Given the description of an element on the screen output the (x, y) to click on. 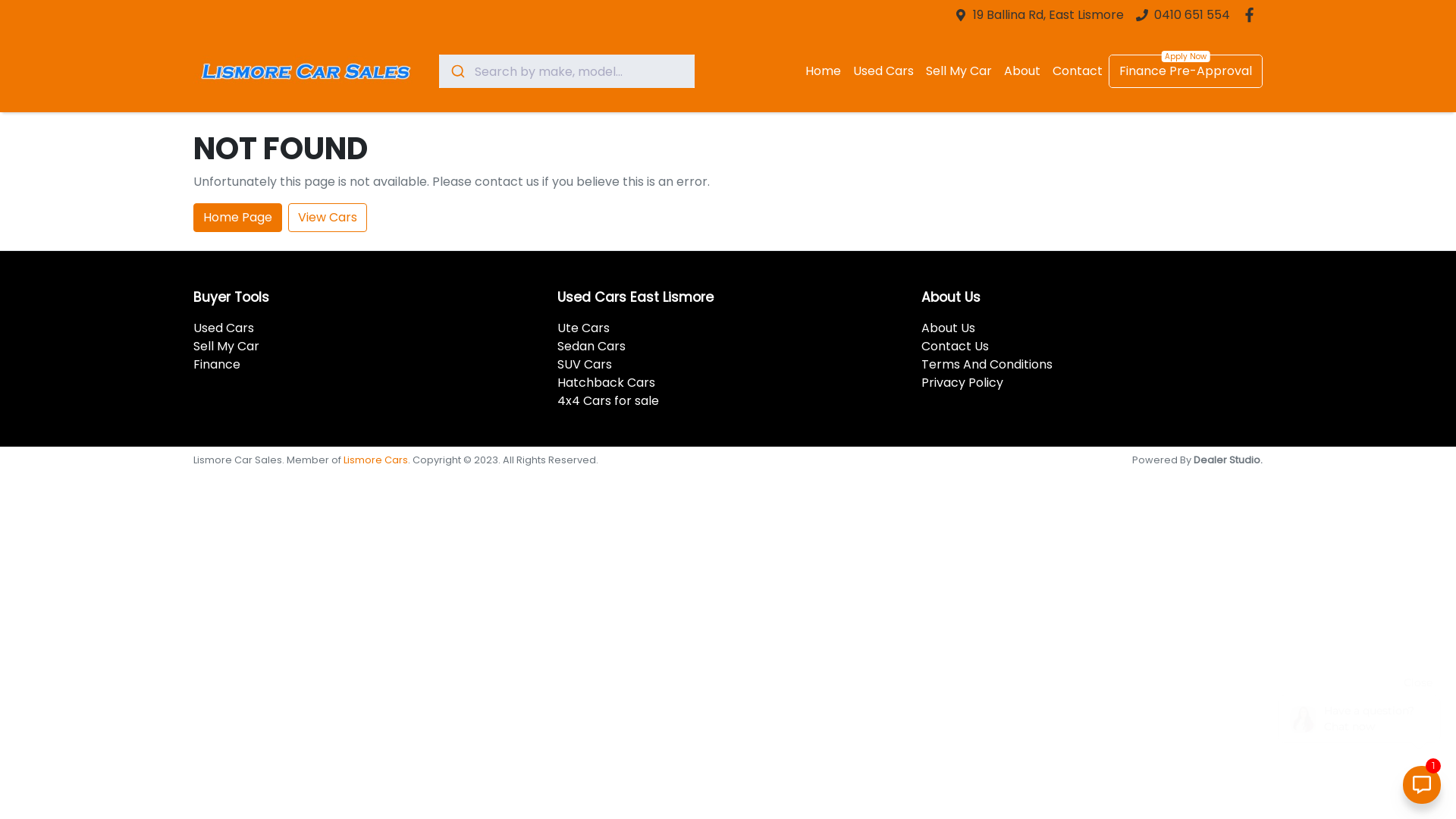
Privacy Policy Element type: text (962, 382)
Submit Element type: hover (456, 70)
19 Ballina Rd, East Lismore Element type: text (1047, 14)
About Element type: text (1021, 71)
Lismore Cars Element type: text (375, 459)
Sell My Car Element type: text (226, 345)
Home Element type: text (823, 71)
4x4 Cars for sale Element type: text (607, 400)
Hatchback Cars Element type: text (606, 382)
Terms And Conditions Element type: text (986, 364)
Used Cars Element type: text (223, 327)
View Cars Element type: text (327, 217)
About Us Element type: text (948, 327)
Home Page Element type: text (237, 217)
Ute Cars Element type: text (583, 327)
Sell My Car Element type: text (958, 71)
0410 651 554 Element type: text (1192, 14)
Contact Element type: text (1077, 71)
SUV Cars Element type: text (584, 364)
Dealer Studio. Element type: text (1227, 459)
Finance Element type: text (216, 364)
Sedan Cars Element type: text (591, 345)
Used Cars Element type: text (883, 71)
Finance Pre-Approval Element type: text (1185, 71)
Contact Us Element type: text (954, 345)
